Given the description of an element on the screen output the (x, y) to click on. 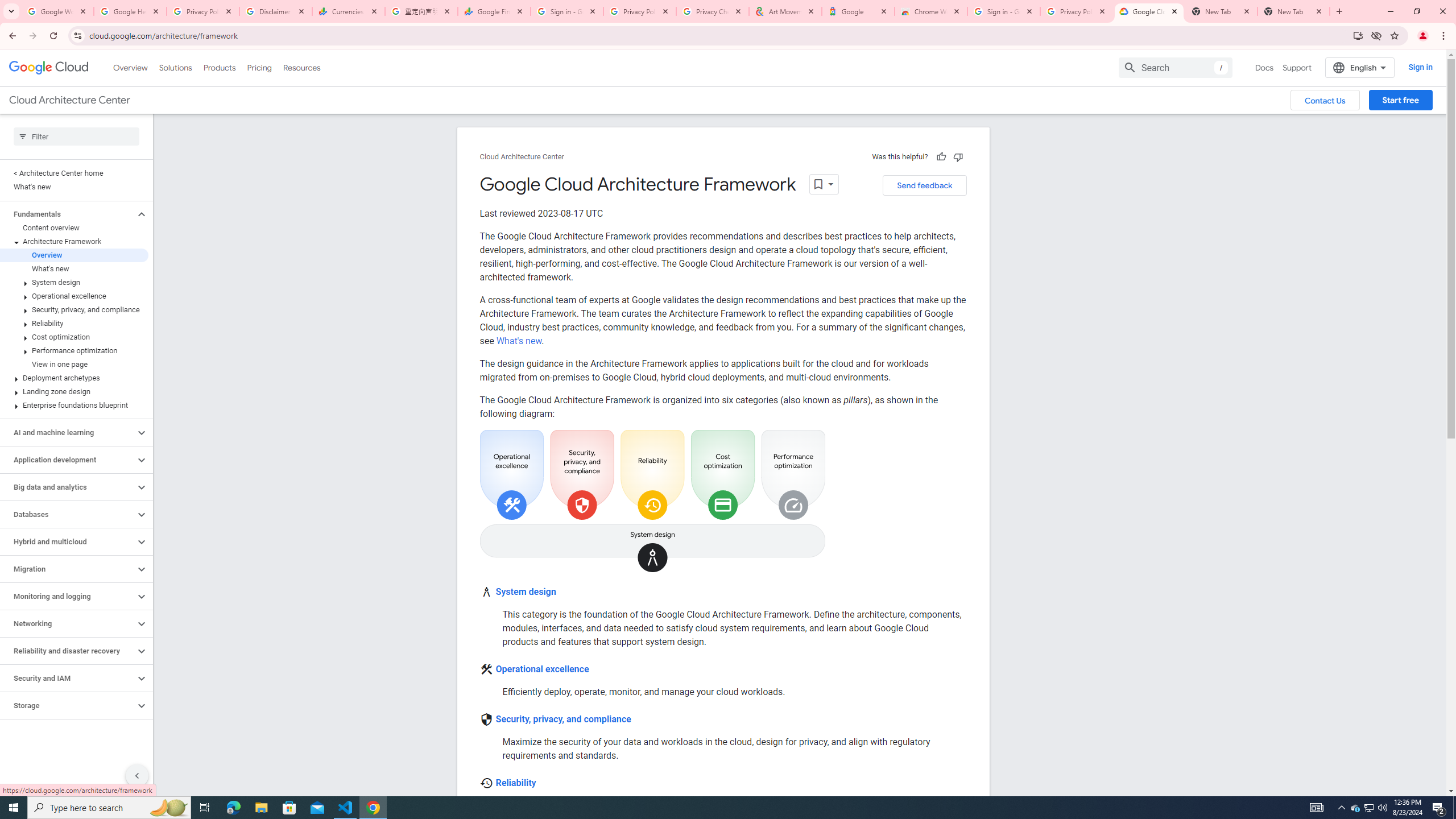
English (1359, 67)
Databases (67, 514)
System design (74, 282)
Reliability (515, 782)
Reliability (74, 323)
Migration (67, 568)
Resources (301, 67)
